Given the description of an element on the screen output the (x, y) to click on. 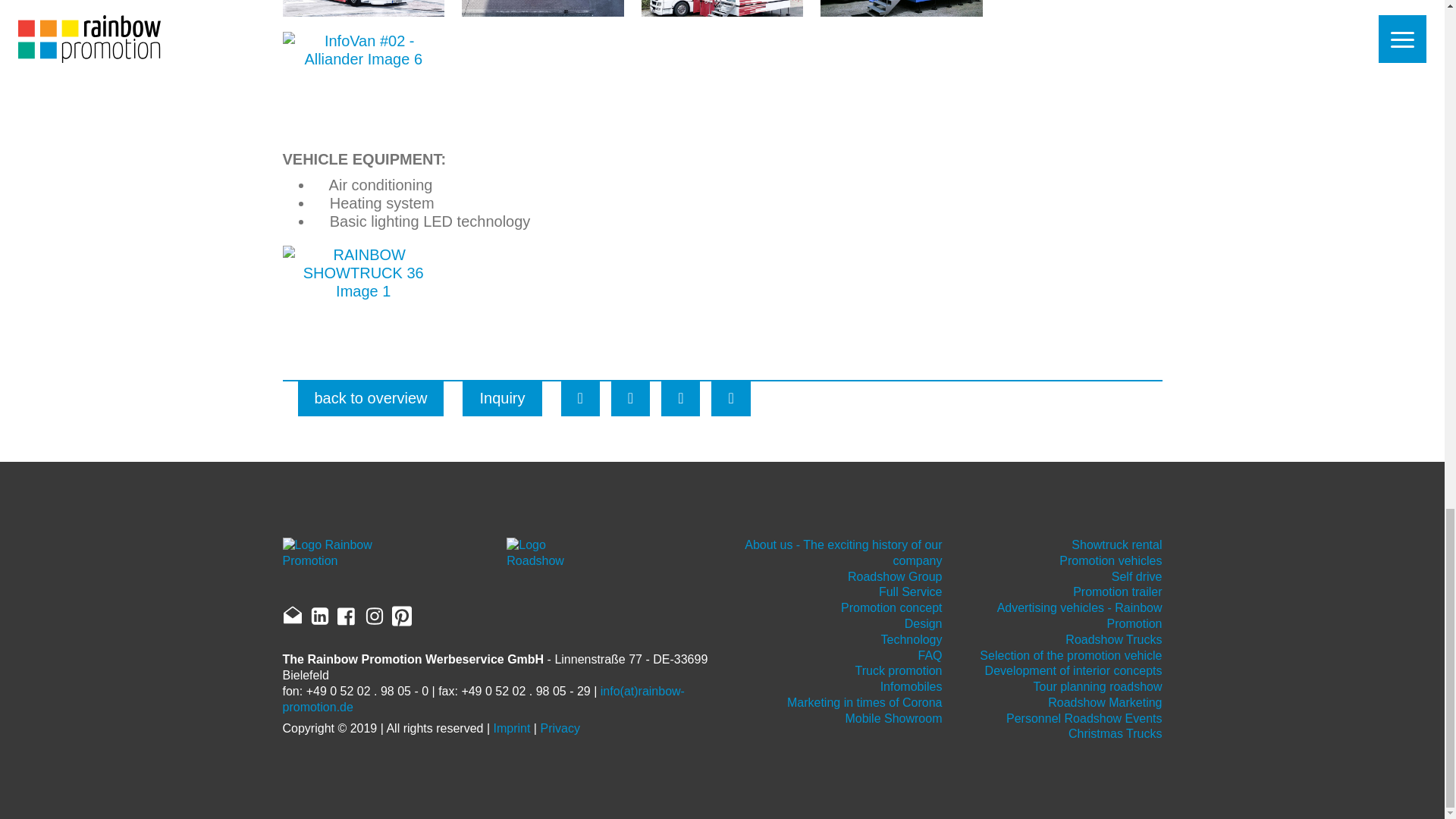
Huawei Roadshow with stairs Image 4 (901, 8)
Huawei Roadshow Truck from above Image 2 (542, 8)
back to overview (370, 398)
Huawei 2018 showtruck 5G Image 1 (363, 8)
Huawei Roadshow Truck 5G Image 3 (722, 8)
Inquiry (502, 398)
Albert Heijn Roadshow Showtruck Netherlands Image 5 (1080, 8)
